Given the description of an element on the screen output the (x, y) to click on. 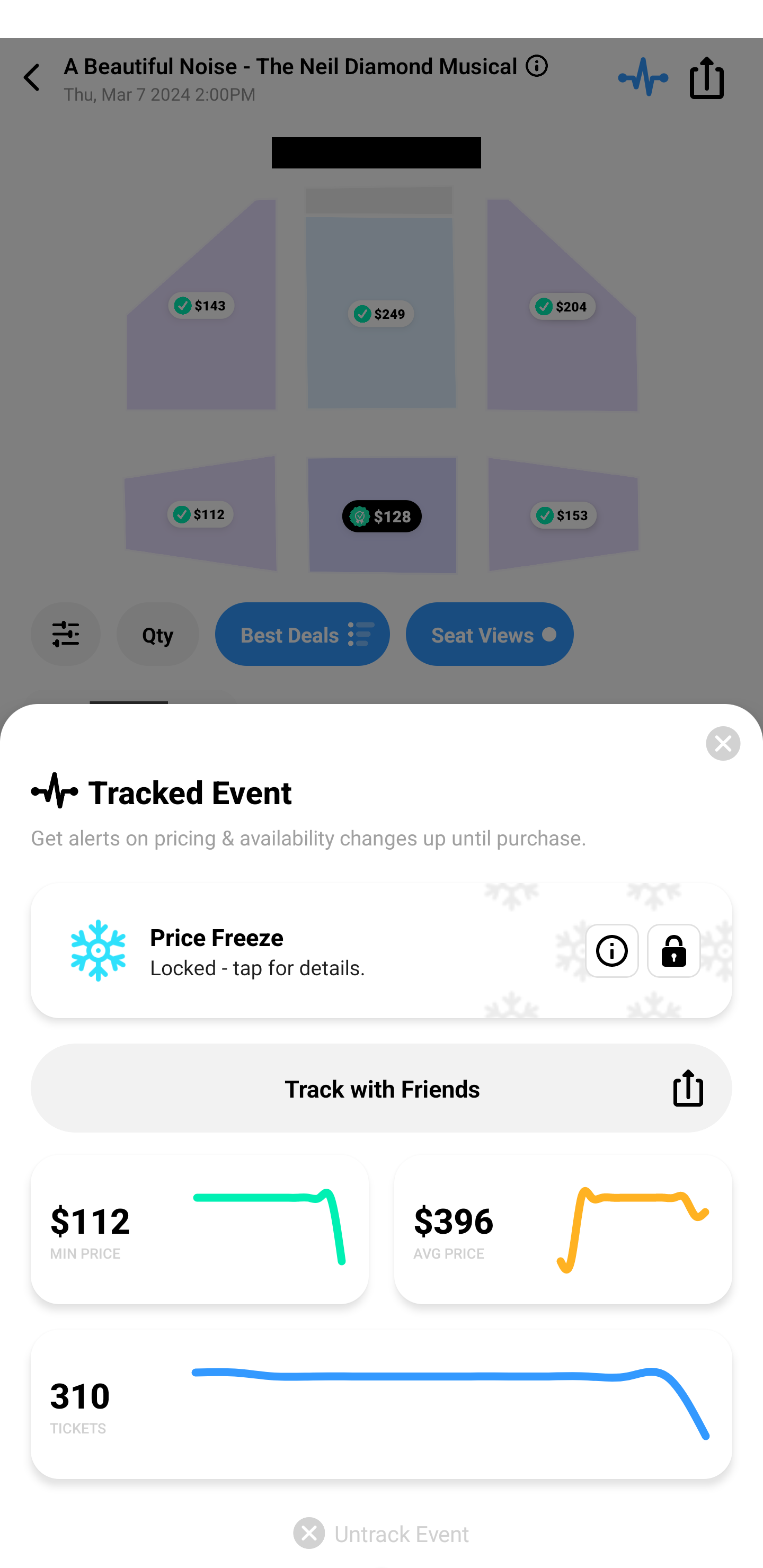
Track with Friends (381, 1088)
Untrack Event (381, 1533)
